Given the description of an element on the screen output the (x, y) to click on. 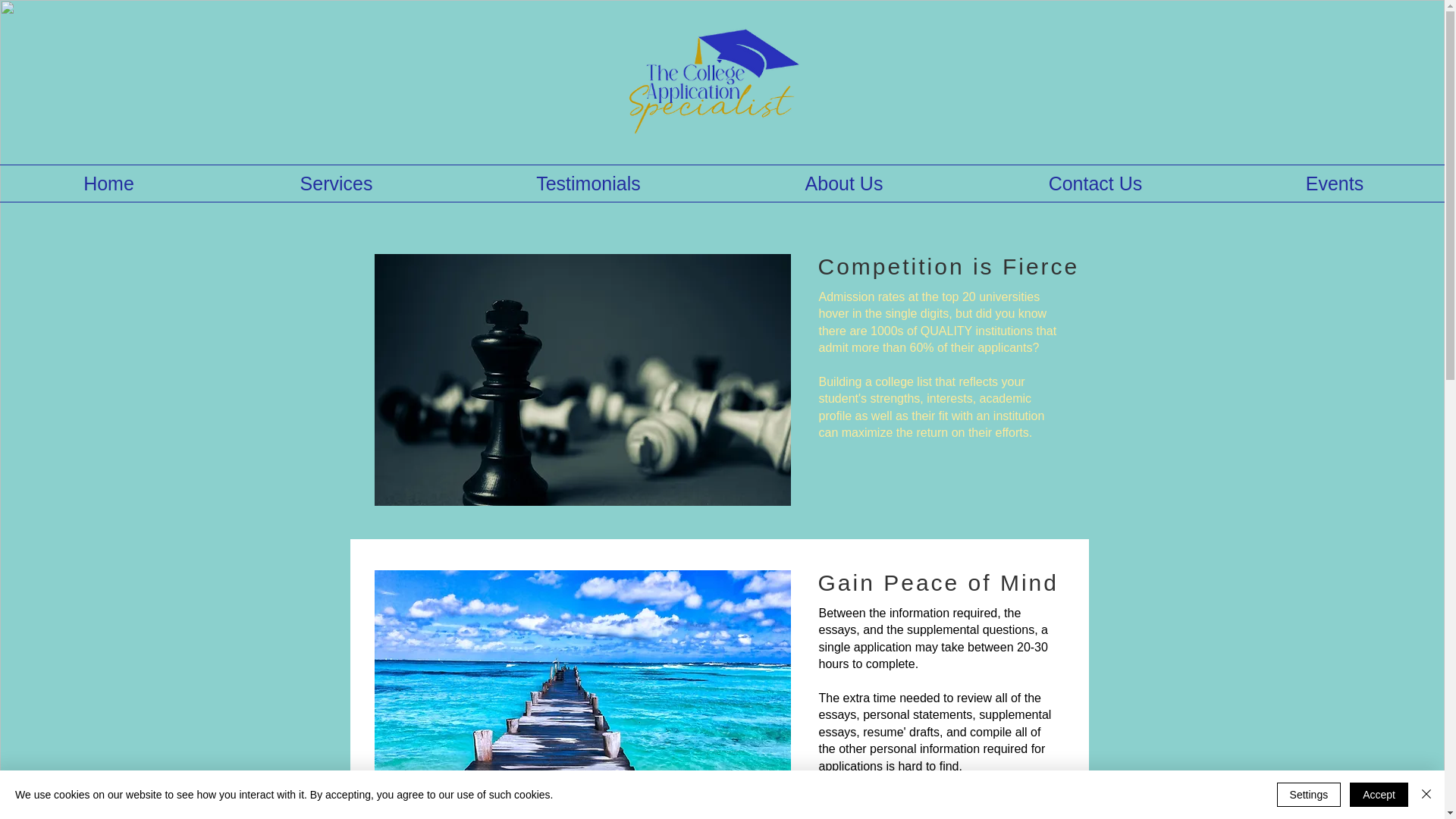
Testimonials (588, 183)
Settings (1308, 794)
Home (108, 183)
Services (335, 183)
Accept (1378, 794)
Contact Us (1095, 183)
About Us (844, 183)
